Given the description of an element on the screen output the (x, y) to click on. 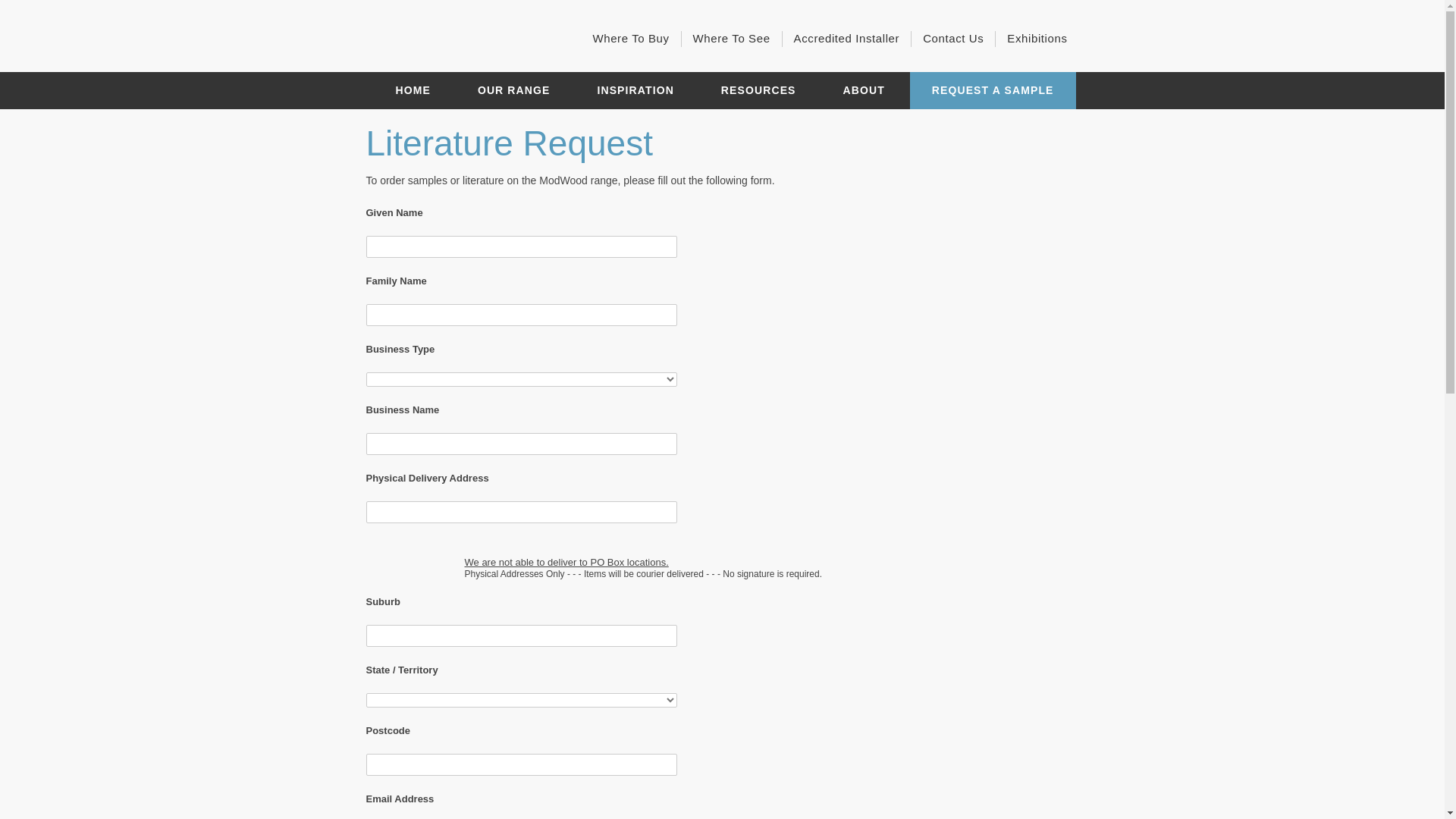
ABOUT Element type: text (863, 90)
RESOURCES Element type: text (758, 90)
OUR RANGE Element type: text (513, 90)
HOME Element type: text (412, 90)
Exhibitions Element type: text (1036, 38)
Modwood Element type: text (460, 38)
Where To Buy Element type: text (630, 38)
Accredited Installer Element type: text (846, 38)
Where To See Element type: text (731, 38)
INSPIRATION Element type: text (635, 90)
REQUEST A SAMPLE Element type: text (993, 90)
Contact Us Element type: text (952, 38)
